Given the description of an element on the screen output the (x, y) to click on. 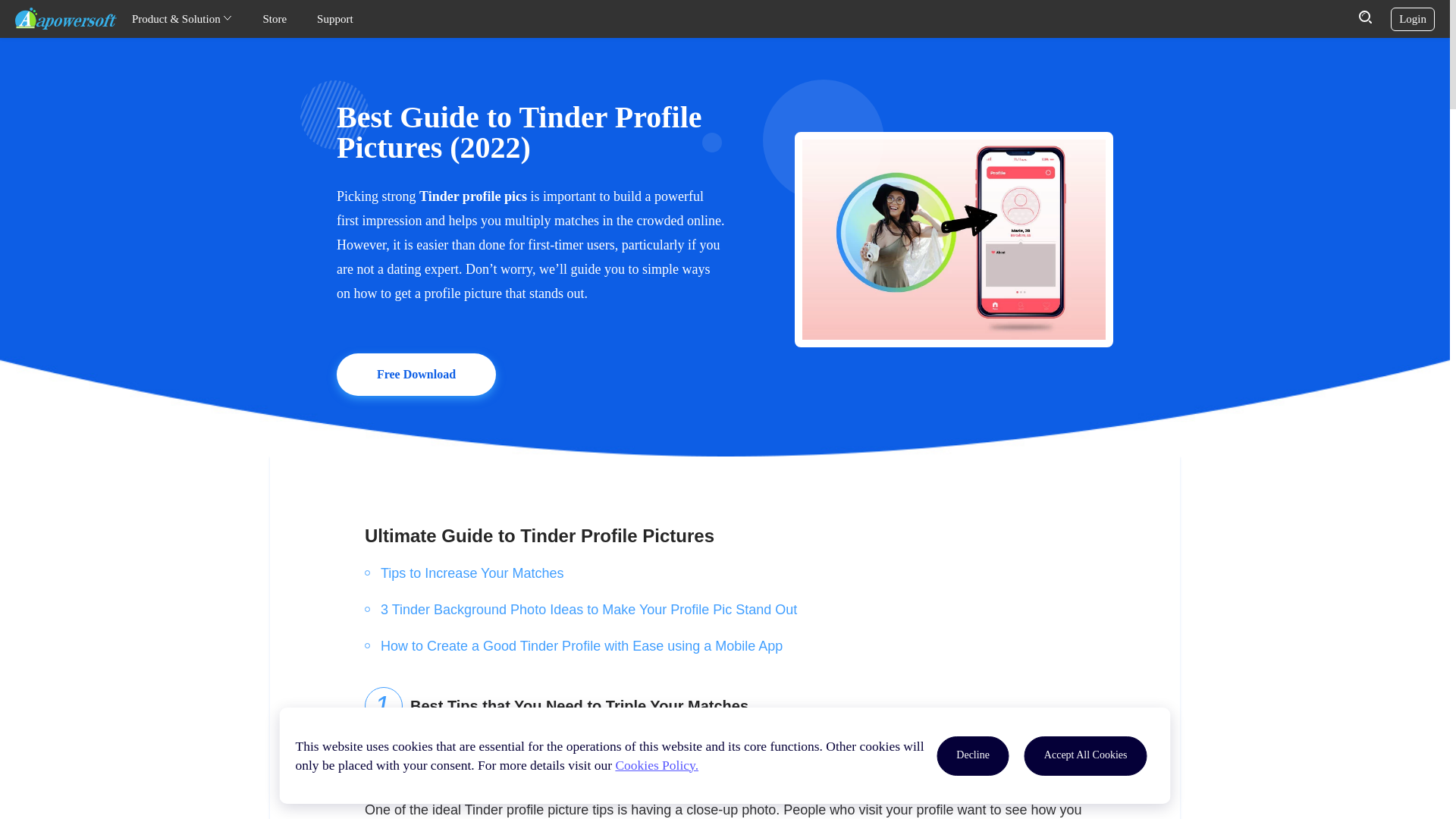
Apowersoft (65, 18)
Store (274, 19)
Support (335, 19)
